Given the description of an element on the screen output the (x, y) to click on. 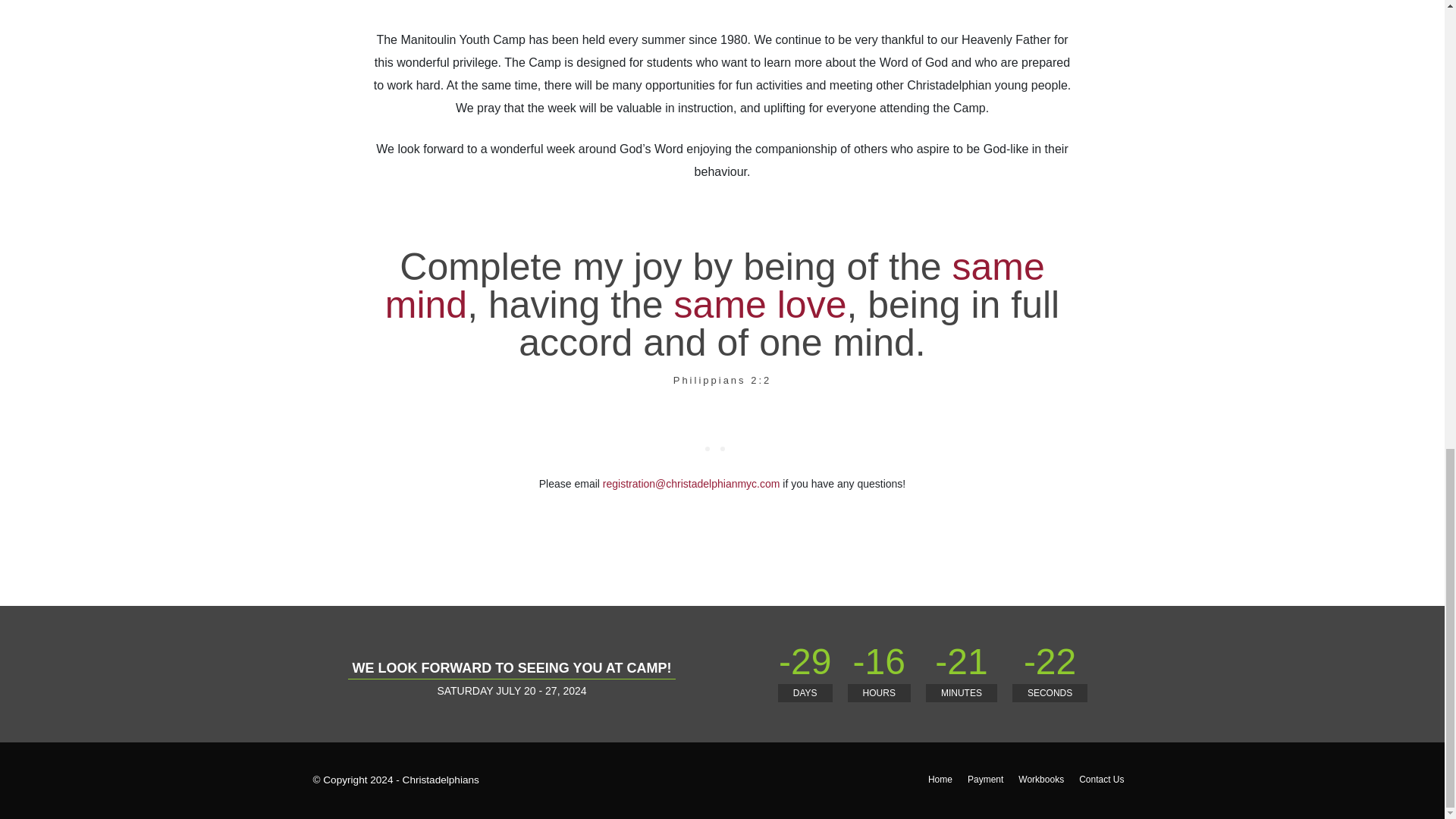
Payment (985, 778)
Workbooks (1040, 778)
Contact Us (1101, 778)
Home (940, 778)
